Given the description of an element on the screen output the (x, y) to click on. 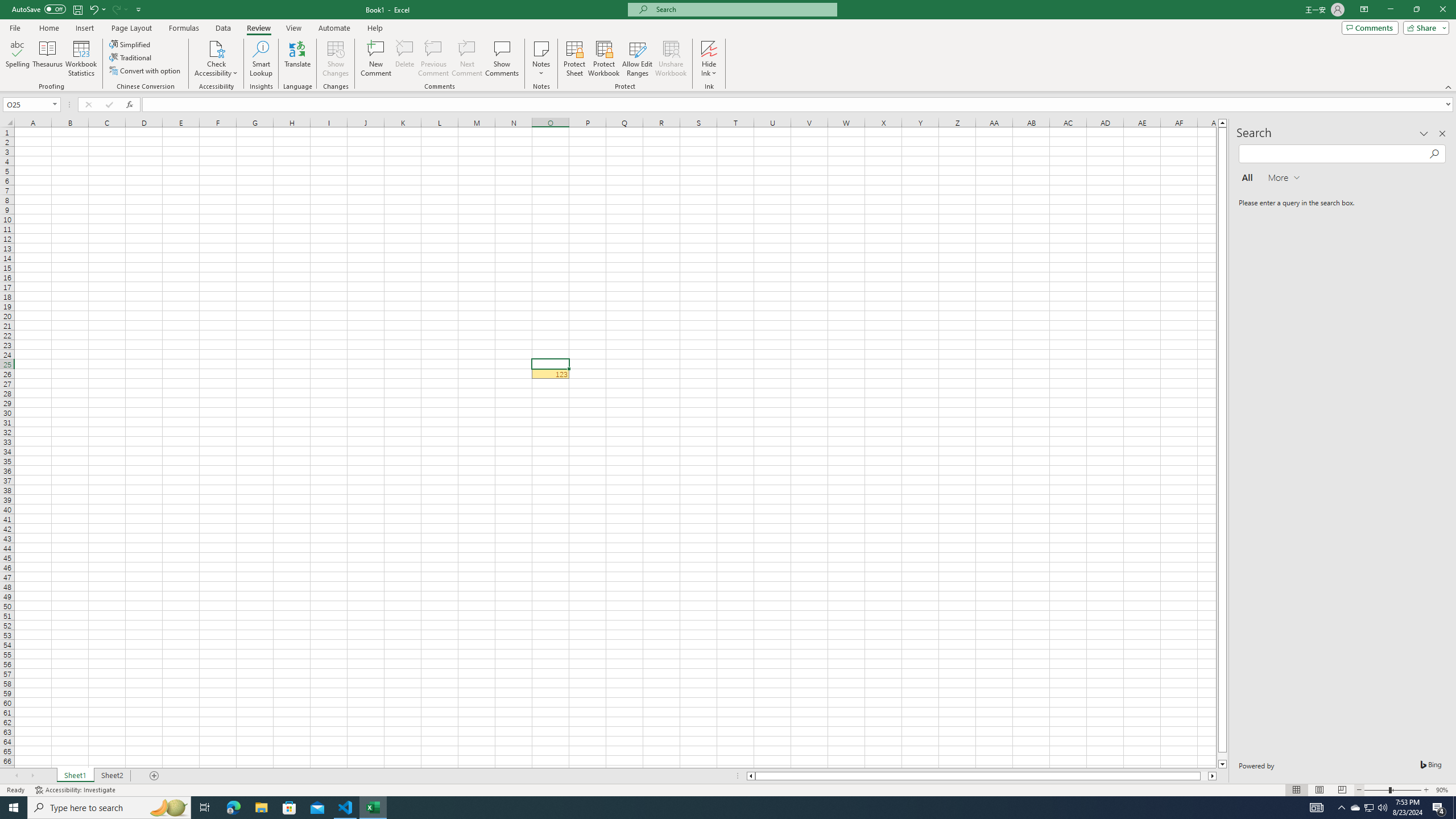
Accessibility Checker Accessibility: Investigate (76, 790)
Smart Lookup (260, 58)
Previous Comment (432, 58)
